Given the description of an element on the screen output the (x, y) to click on. 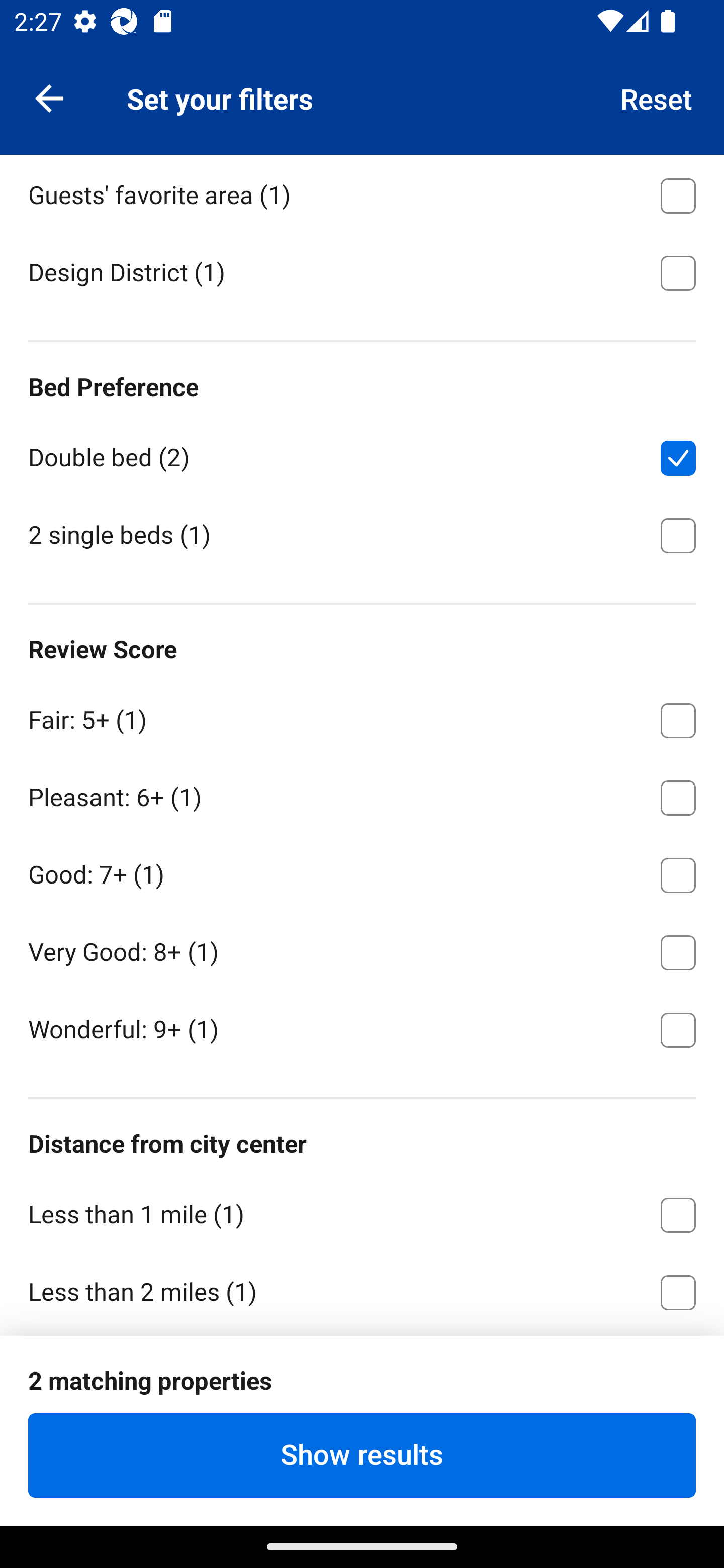
Navigate up (49, 97)
Reset (656, 97)
Brickell ⁦(1) (361, 114)
Guests' favorite area ⁦(1) (361, 192)
Design District ⁦(1) (361, 271)
Double bed ⁦(2) (361, 454)
2 single beds ⁦(1) (361, 533)
Fair: 5+ ⁦(1) (361, 716)
Pleasant: 6+ ⁦(1) (361, 793)
Good: 7+ ⁦(1) (361, 871)
Very Good: 8+ ⁦(1) (361, 949)
Wonderful: 9+ ⁦(1) (361, 1028)
Less than 1 mile ⁦(1) (361, 1210)
Less than 2 miles ⁦(1) (361, 1290)
Show results (361, 1454)
